Given the description of an element on the screen output the (x, y) to click on. 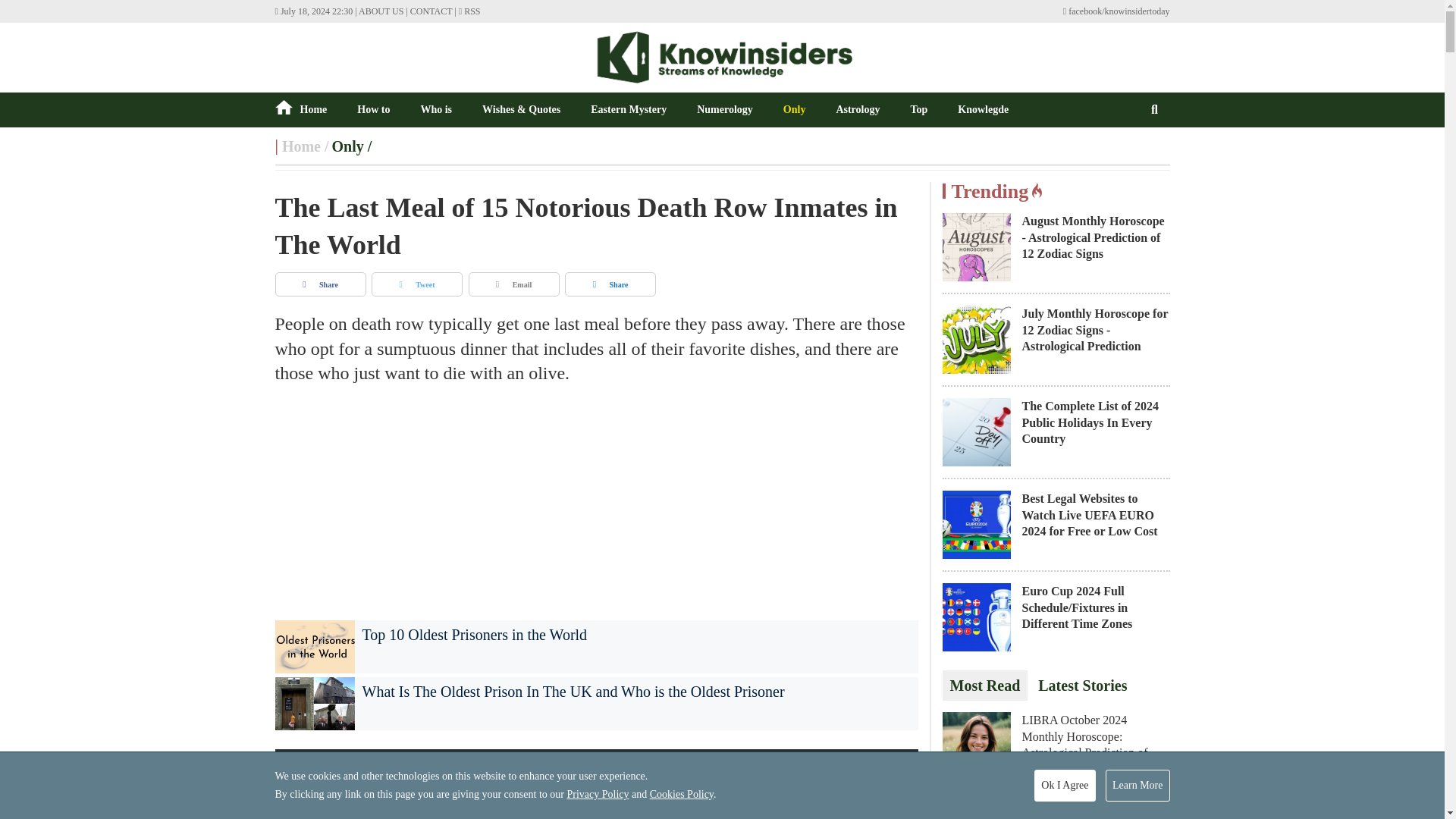
Who is (435, 109)
Share by Email (513, 283)
KnowInsiders (301, 146)
Top (918, 109)
Share (320, 283)
Numerology (724, 109)
ABOUT US (380, 10)
Home (301, 146)
Only (347, 146)
Knowlegde (983, 109)
Share (610, 283)
Home (300, 109)
Only (347, 146)
Only (794, 109)
